Given the description of an element on the screen output the (x, y) to click on. 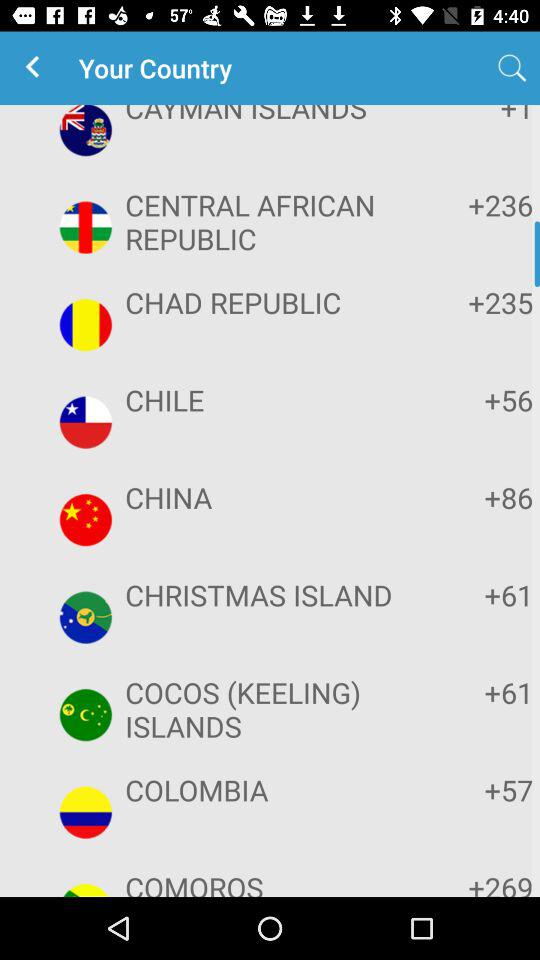
choose item next to the +236 icon (267, 221)
